Given the description of an element on the screen output the (x, y) to click on. 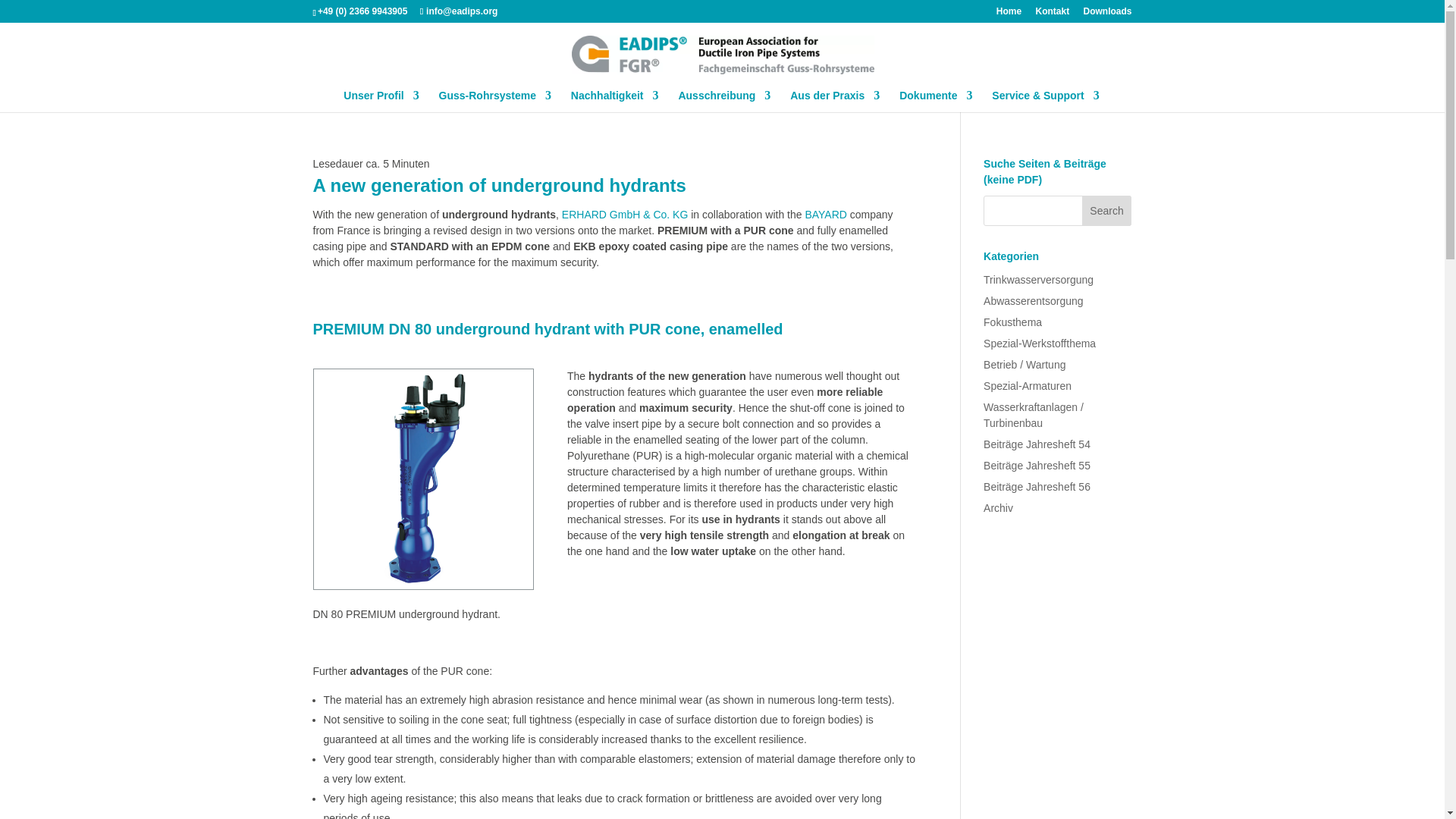
Nachhaltigkeit (614, 101)
Unser Profil (381, 101)
Aus der Praxis (834, 101)
Kontakt (1051, 14)
Home (1008, 14)
Downloads (1107, 14)
PREMIUM DN 80 underground hydrant with PUR cone, enamelled (423, 589)
Guss-Rohrsysteme (495, 101)
Dokumente (935, 101)
Search (1106, 210)
